Given the description of an element on the screen output the (x, y) to click on. 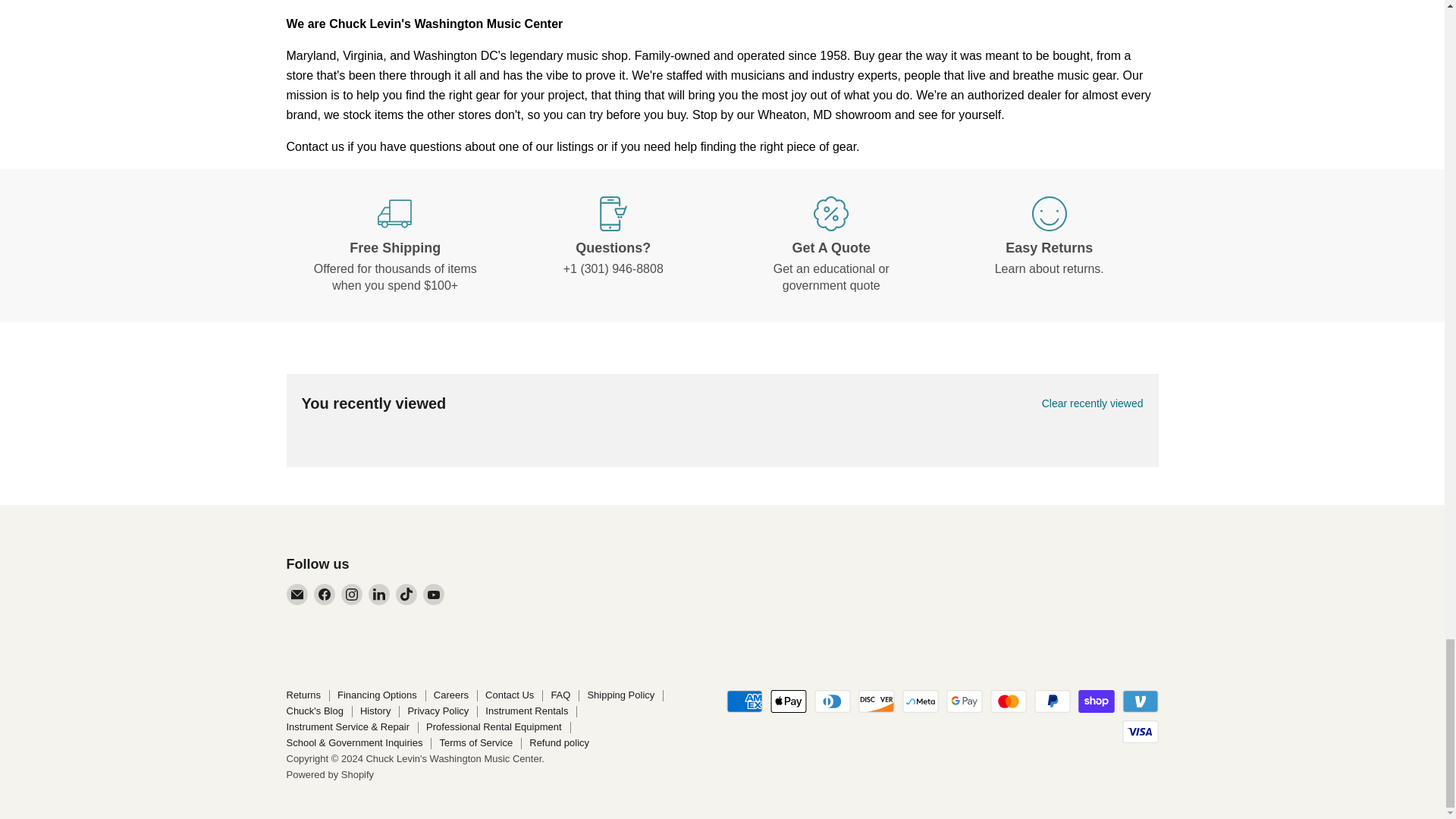
TikTok (406, 594)
Email (296, 594)
YouTube (433, 594)
Facebook (324, 594)
LinkedIn (379, 594)
Instagram (351, 594)
